Given the description of an element on the screen output the (x, y) to click on. 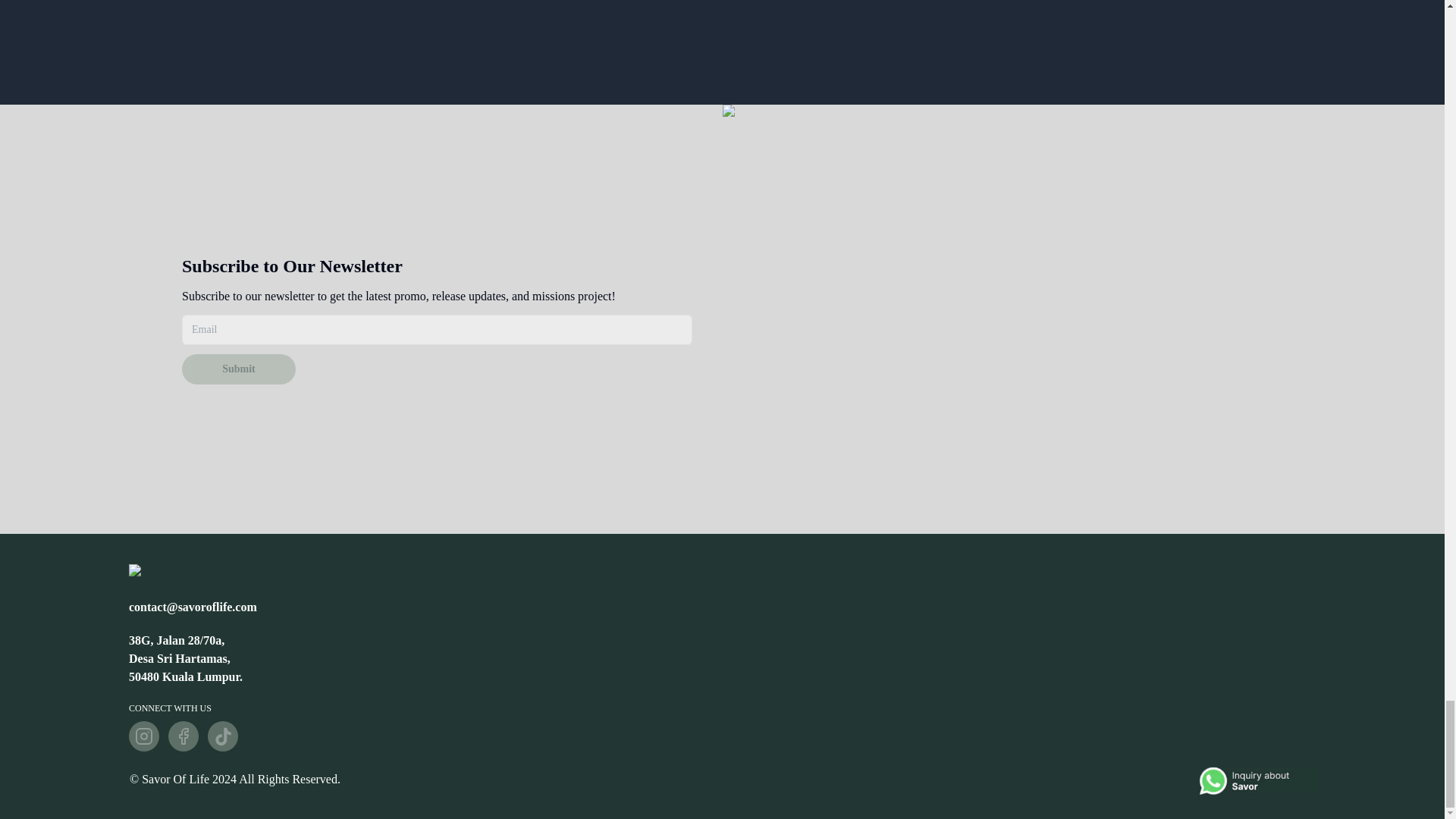
Submit (238, 368)
